Given the description of an element on the screen output the (x, y) to click on. 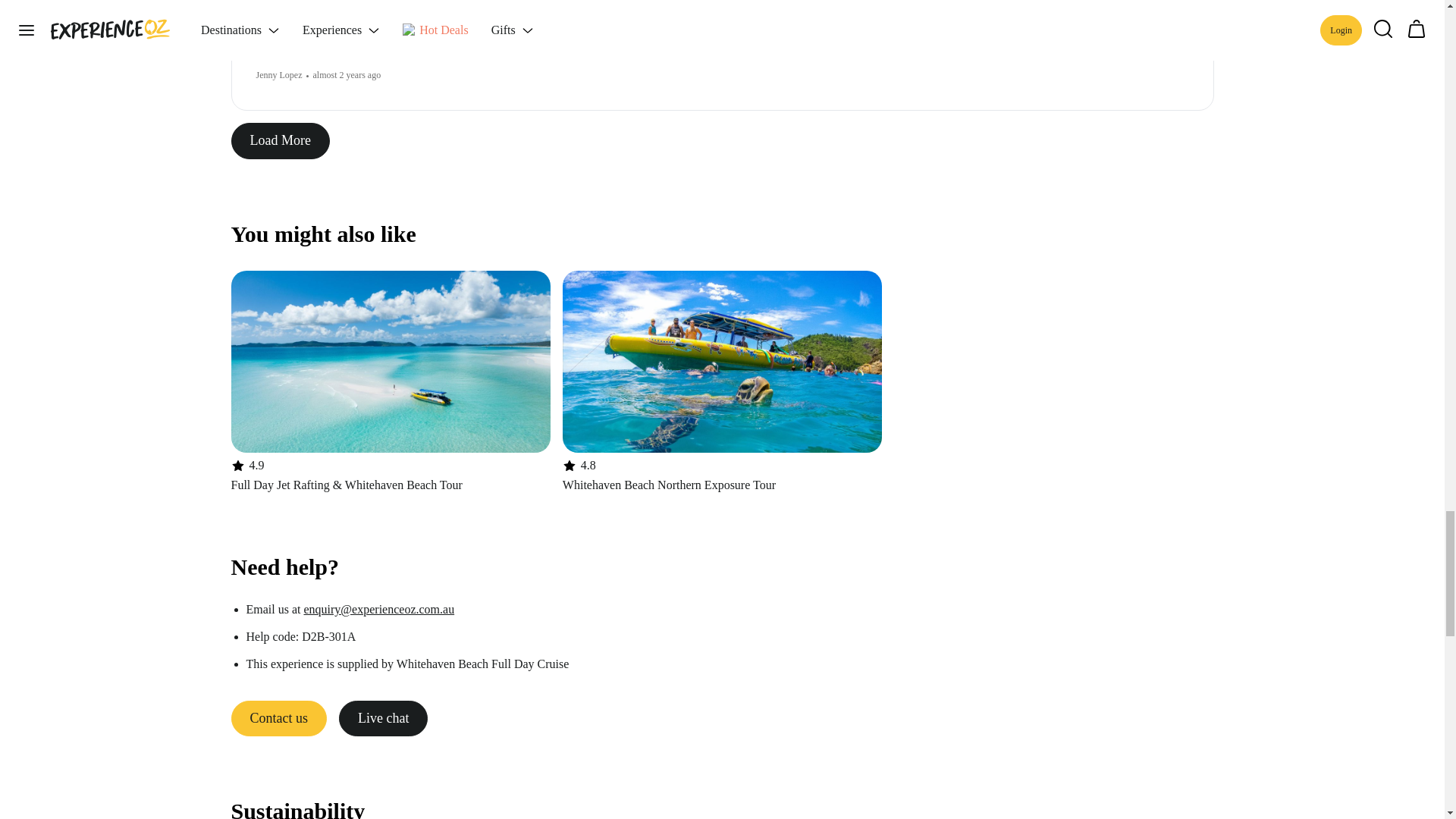
Contact us (278, 719)
Live chat (722, 381)
Load More (383, 719)
